Given the description of an element on the screen output the (x, y) to click on. 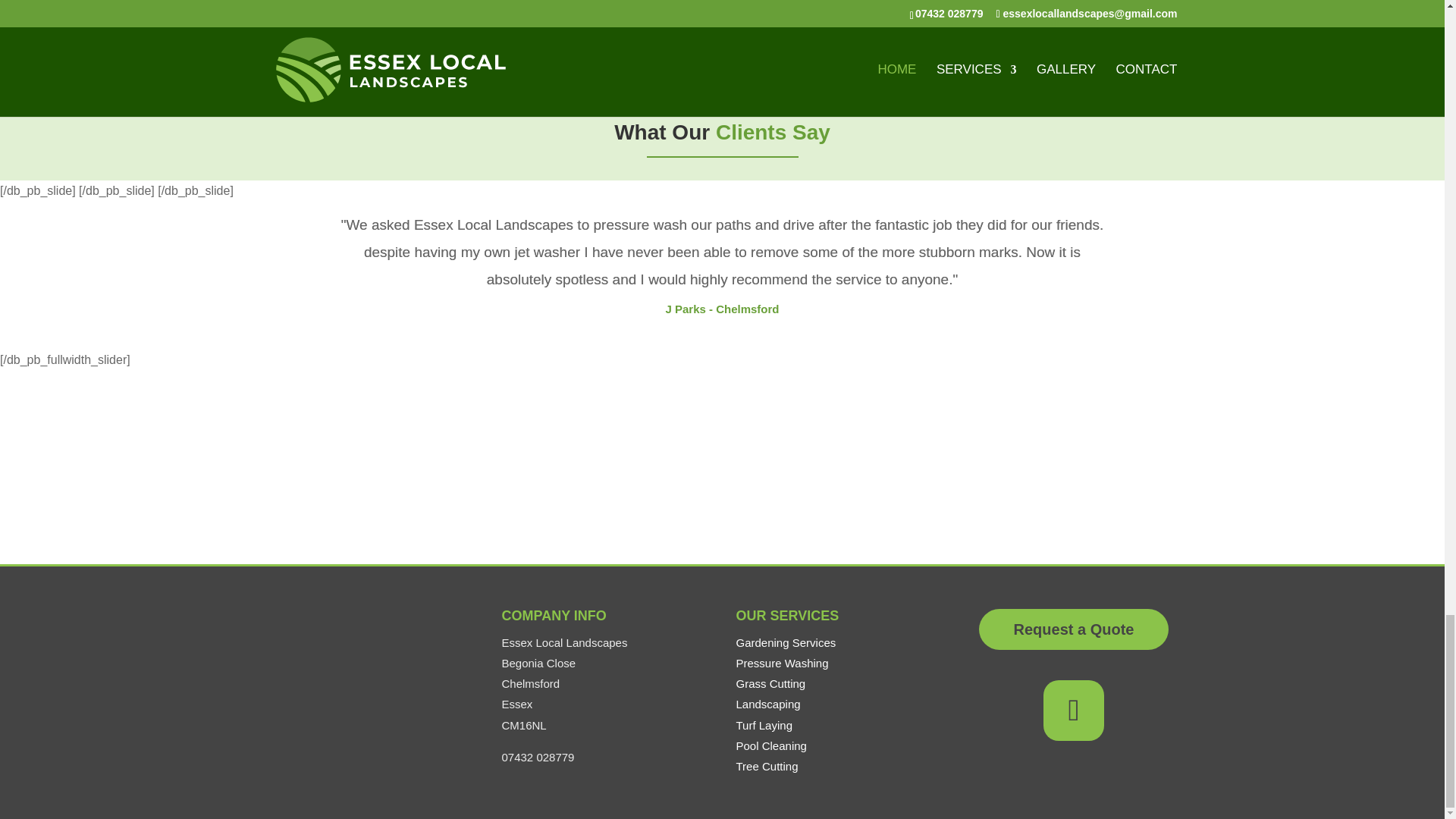
Landscaping Essex (767, 703)
Pressure Washing Essex (781, 662)
Grass Cutting Essex (770, 683)
Pool Cleaning (770, 745)
Grass Cutting (770, 683)
Pressure Washing (781, 662)
Turf Laying (763, 725)
Gardening Services Essex (785, 642)
Tree Cutting (766, 766)
Turf Laying Essex (763, 725)
Gardening Services (785, 642)
Landscaping (767, 703)
